Given the description of an element on the screen output the (x, y) to click on. 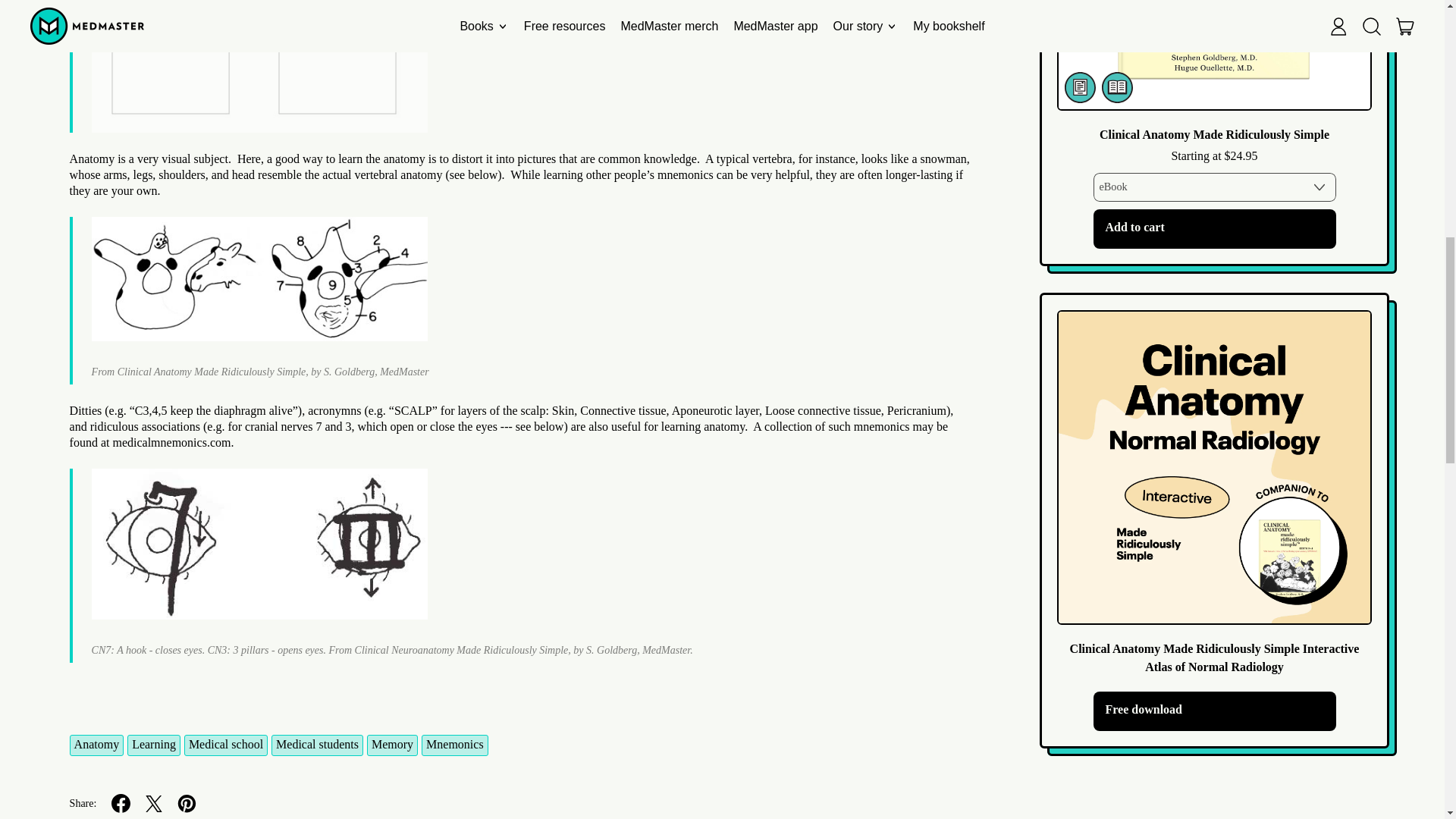
Ditties (85, 410)
Anatomy (96, 744)
Medical school (225, 744)
Learning (154, 744)
Anatomy Restrooms (259, 66)
distort it into pictures (503, 158)
Snowman-petting-moose (259, 279)
medicalmnemonics.com. (172, 441)
acronymns (334, 410)
Medical students (316, 744)
